Given the description of an element on the screen output the (x, y) to click on. 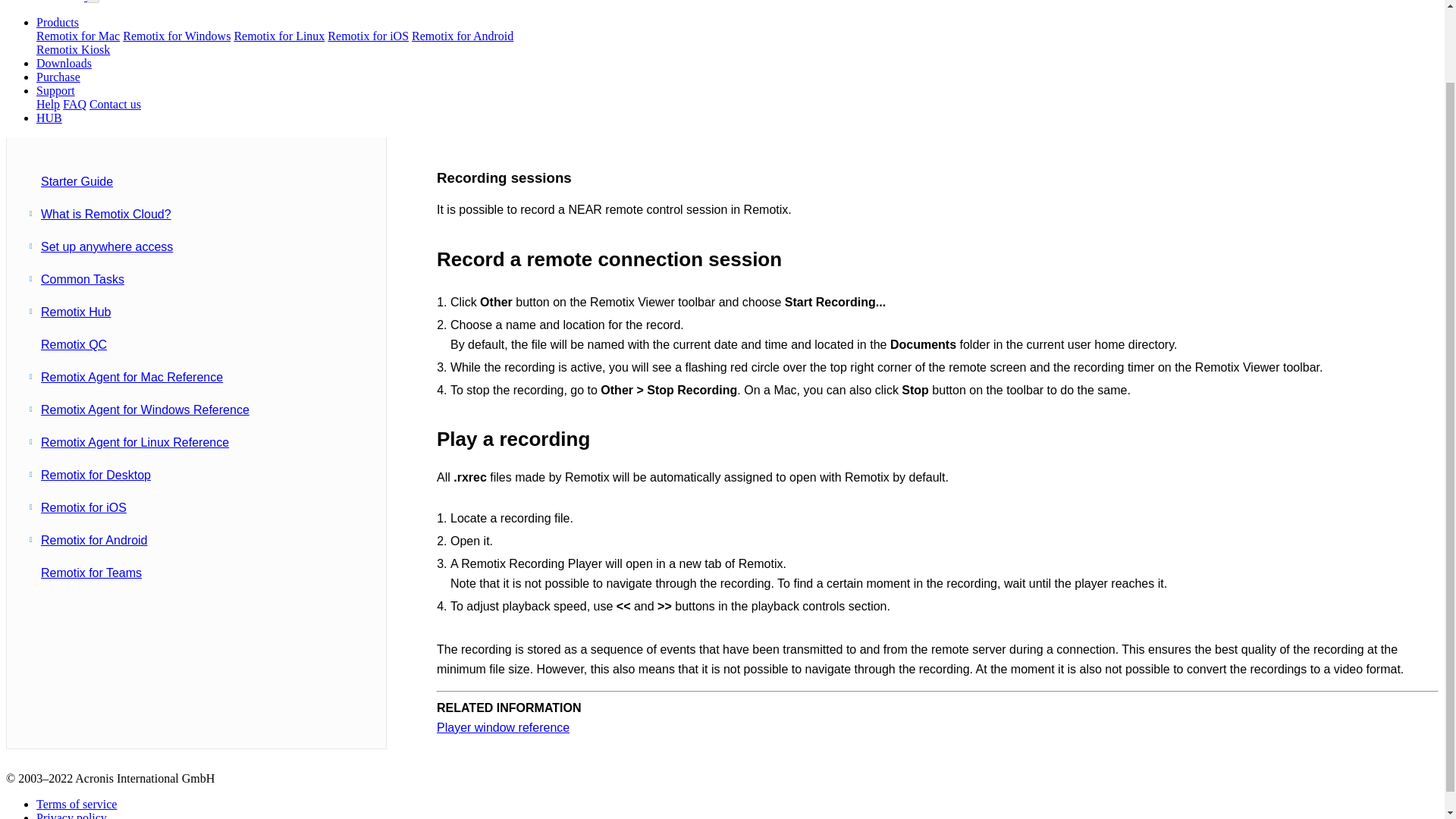
Downloads (63, 62)
Starter Guide (76, 181)
Remotix for Windows (176, 35)
Remotix for Linux (278, 35)
HUB (49, 117)
Remotix for Android (462, 35)
Remotix Kiosk (73, 49)
Products (57, 21)
FAQ (73, 103)
Purchase (58, 76)
